Given the description of an element on the screen output the (x, y) to click on. 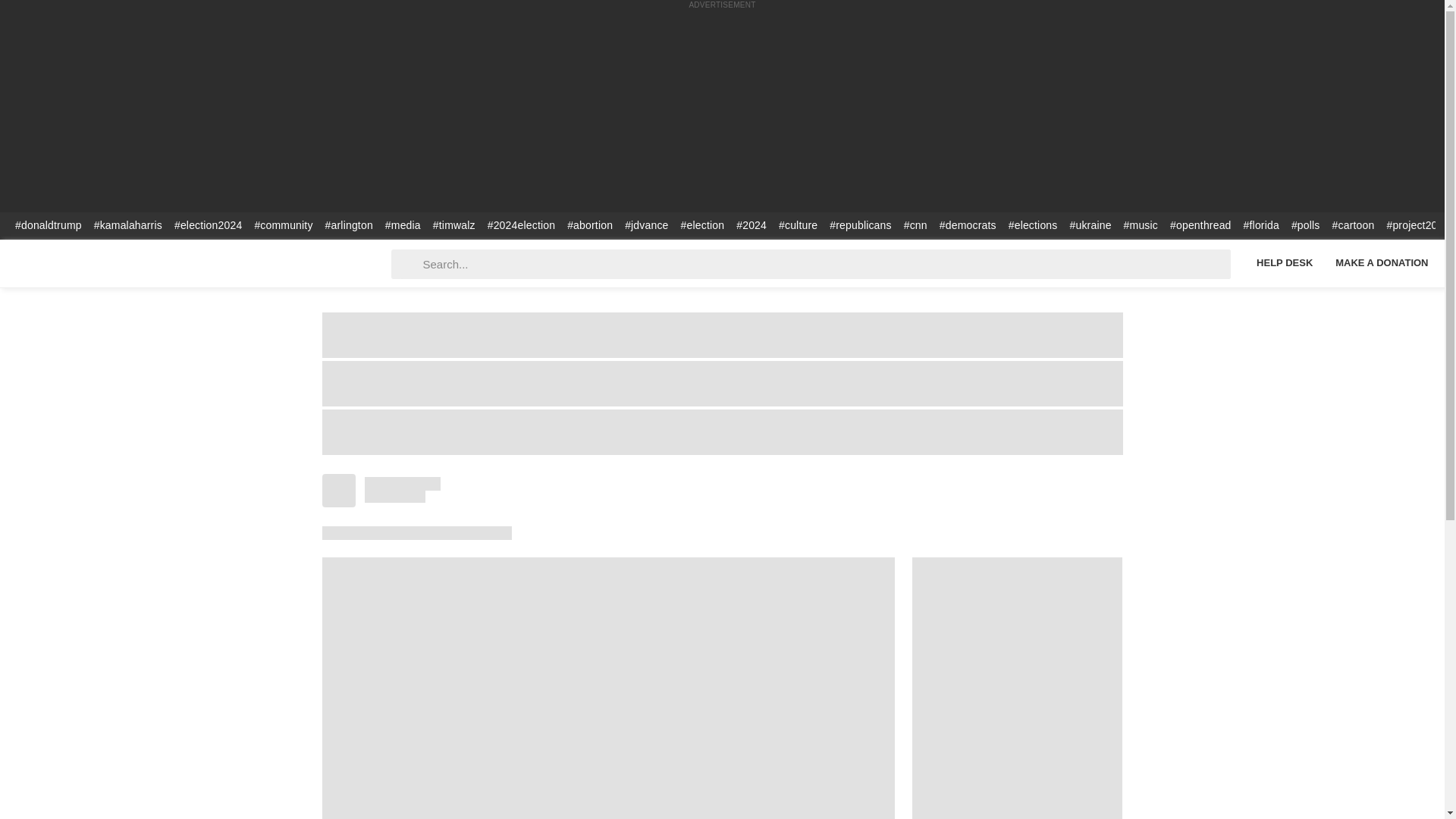
MAKE A DONATION (1381, 262)
Make a Donation (1381, 262)
Help Desk (1283, 262)
